Given the description of an element on the screen output the (x, y) to click on. 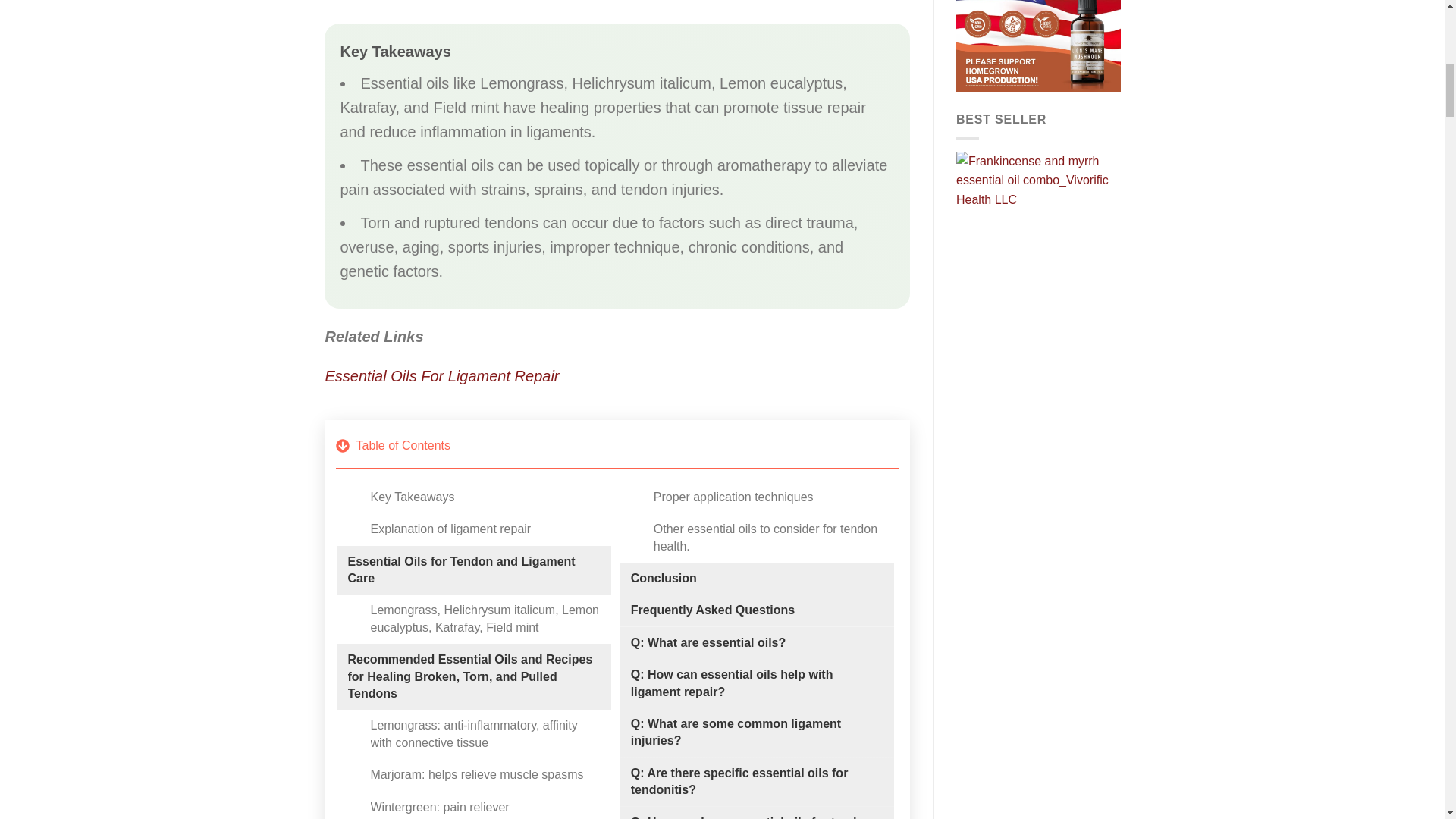
Q: Are there specific essential oils for tendonitis? (756, 781)
Q: What are some common ligament injuries? (756, 732)
Q: How can essential oils help with ligament repair? (756, 683)
Essential Oils for Tendon and Ligament Care (472, 570)
Wintergreen: pain reliever (438, 807)
Marjoram: helps relieve muscle spasms (476, 774)
Q: How can I use essential oils for tendon repair? (756, 816)
Conclusion (663, 578)
Key Takeaways (411, 497)
Frequently Asked Questions (712, 610)
Other essential oils to consider for tendon health. (767, 537)
Explanation of ligament repair (450, 528)
